Given the description of an element on the screen output the (x, y) to click on. 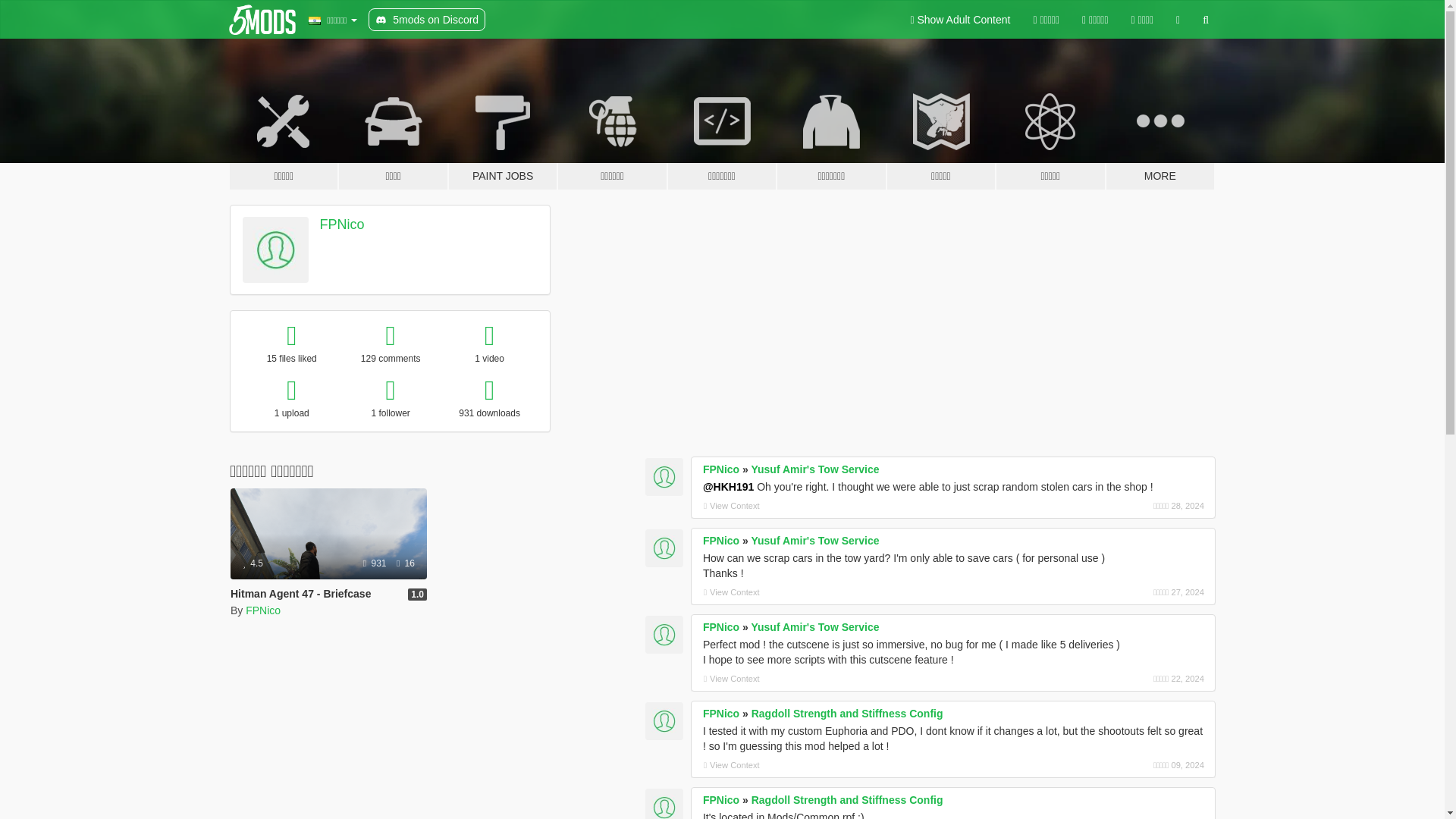
Hitman Agent 47 - Briefcase (300, 593)
4.5 star rating (253, 562)
Hitman Agent 47 - Briefcase (328, 533)
1.0 (416, 594)
Light mode (960, 19)
5mods on Discord (426, 19)
Show Adult Content (960, 19)
Hitman Agent 47 - Briefcase (328, 553)
FPNico (263, 610)
